Given the description of an element on the screen output the (x, y) to click on. 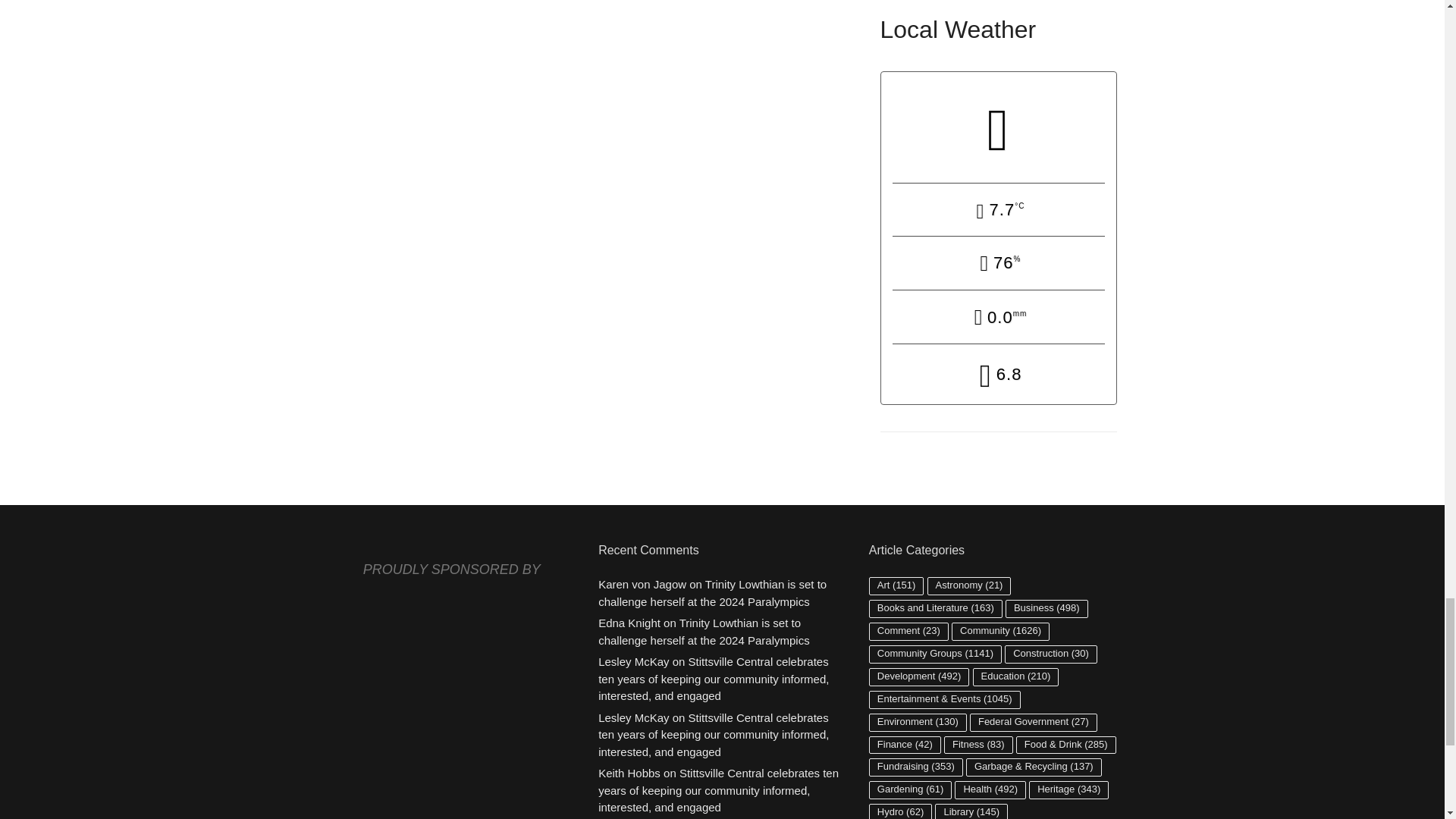
Temperature (998, 211)
Relative humidity (998, 264)
Rainfall (998, 317)
Current weather conditions (998, 127)
Wind chill (998, 375)
